Given the description of an element on the screen output the (x, y) to click on. 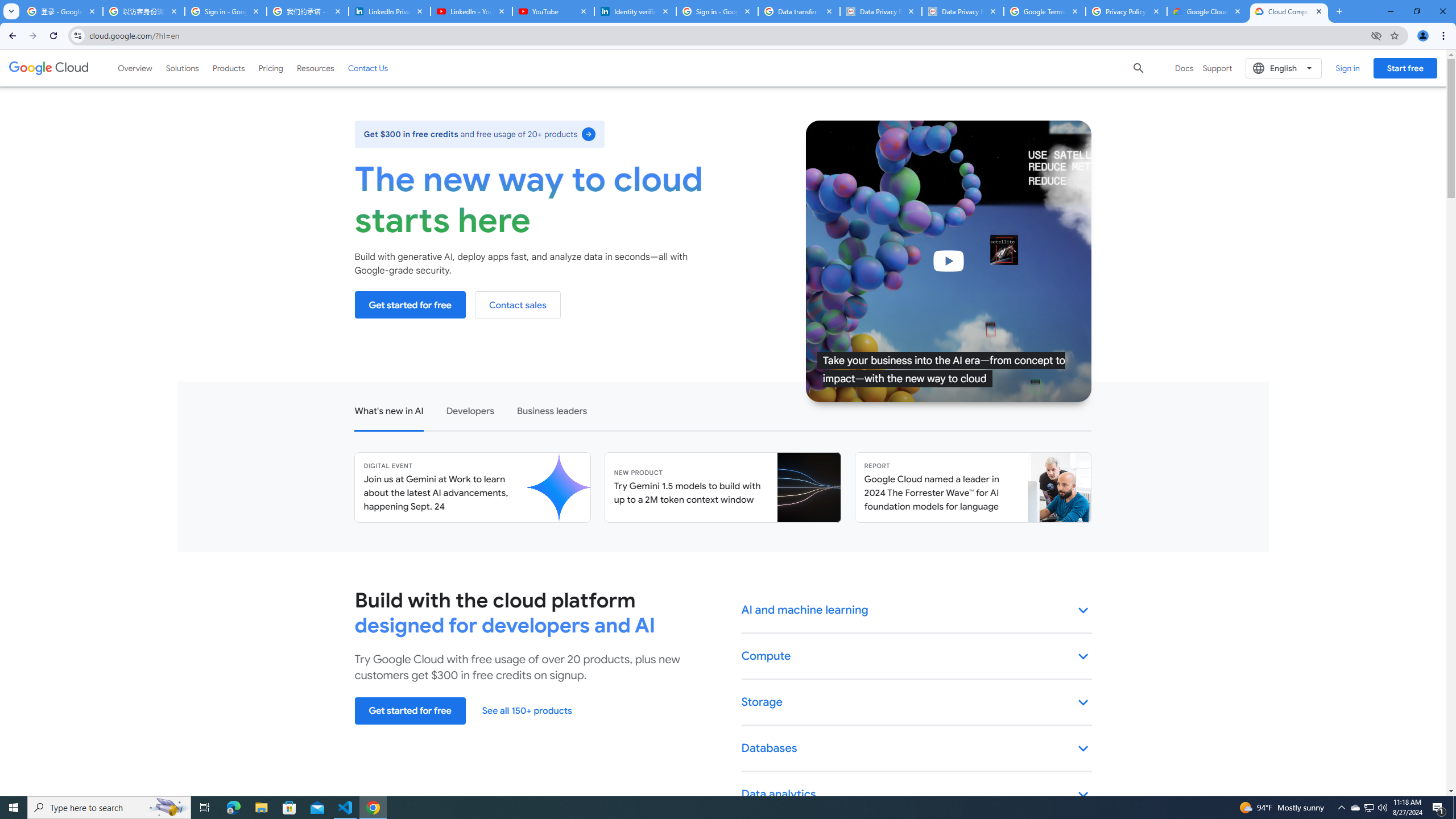
Data Privacy Framework (963, 11)
AI and machine learning keyboard_arrow_down (916, 610)
LinkedIn Privacy Policy (389, 11)
